Given the description of an element on the screen output the (x, y) to click on. 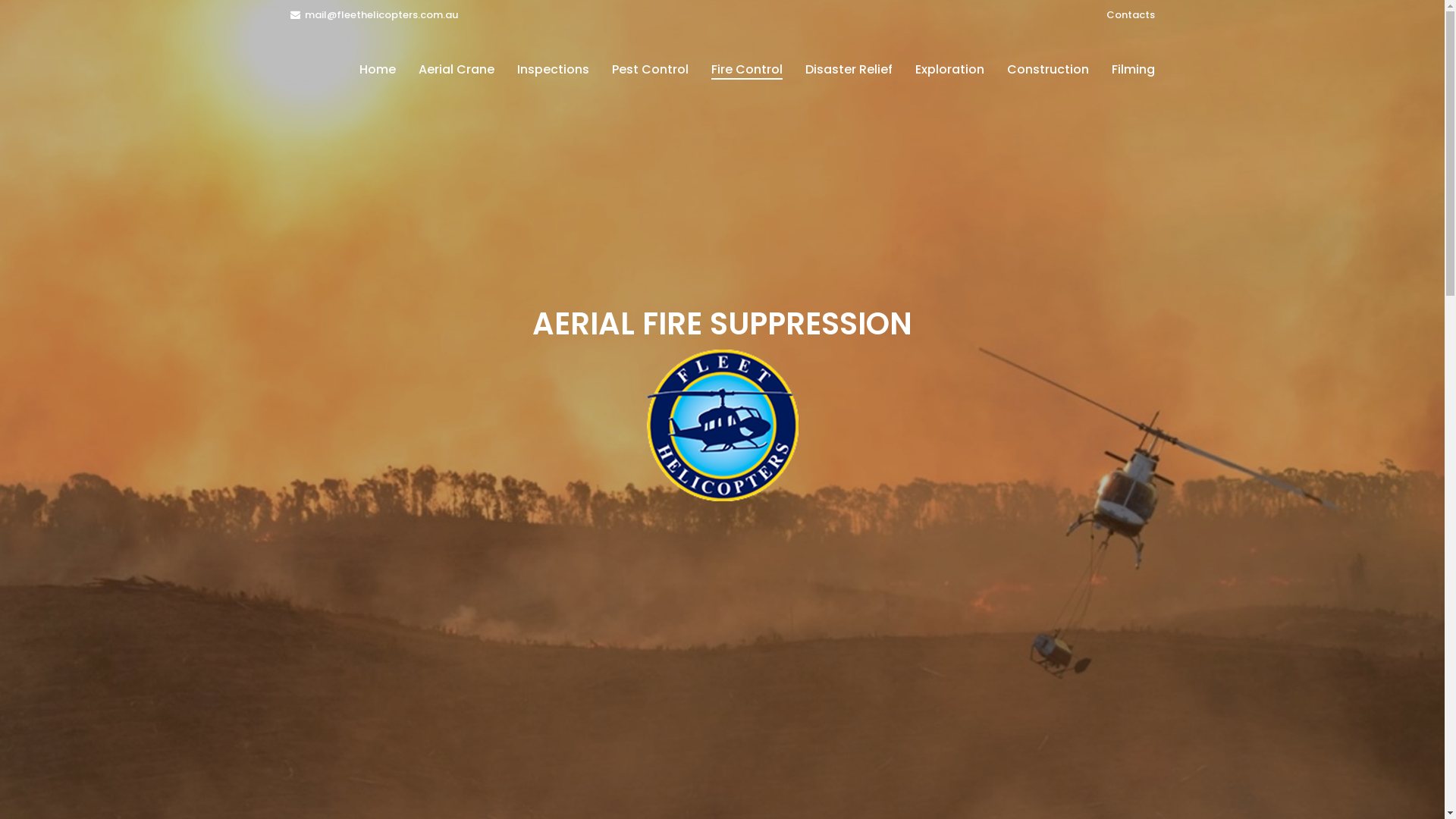
Filming Element type: text (1132, 69)
Inspections Element type: text (552, 69)
Aerial Crane Element type: text (455, 69)
Contacts Element type: text (1129, 14)
Exploration Element type: text (949, 69)
Construction Element type: text (1046, 69)
Fire Control Element type: text (746, 69)
Disaster Relief Element type: text (848, 69)
Pest Control Element type: text (649, 69)
Home Element type: text (376, 69)
  mail@fleethelicopters.com.au Element type: text (373, 14)
